Given the description of an element on the screen output the (x, y) to click on. 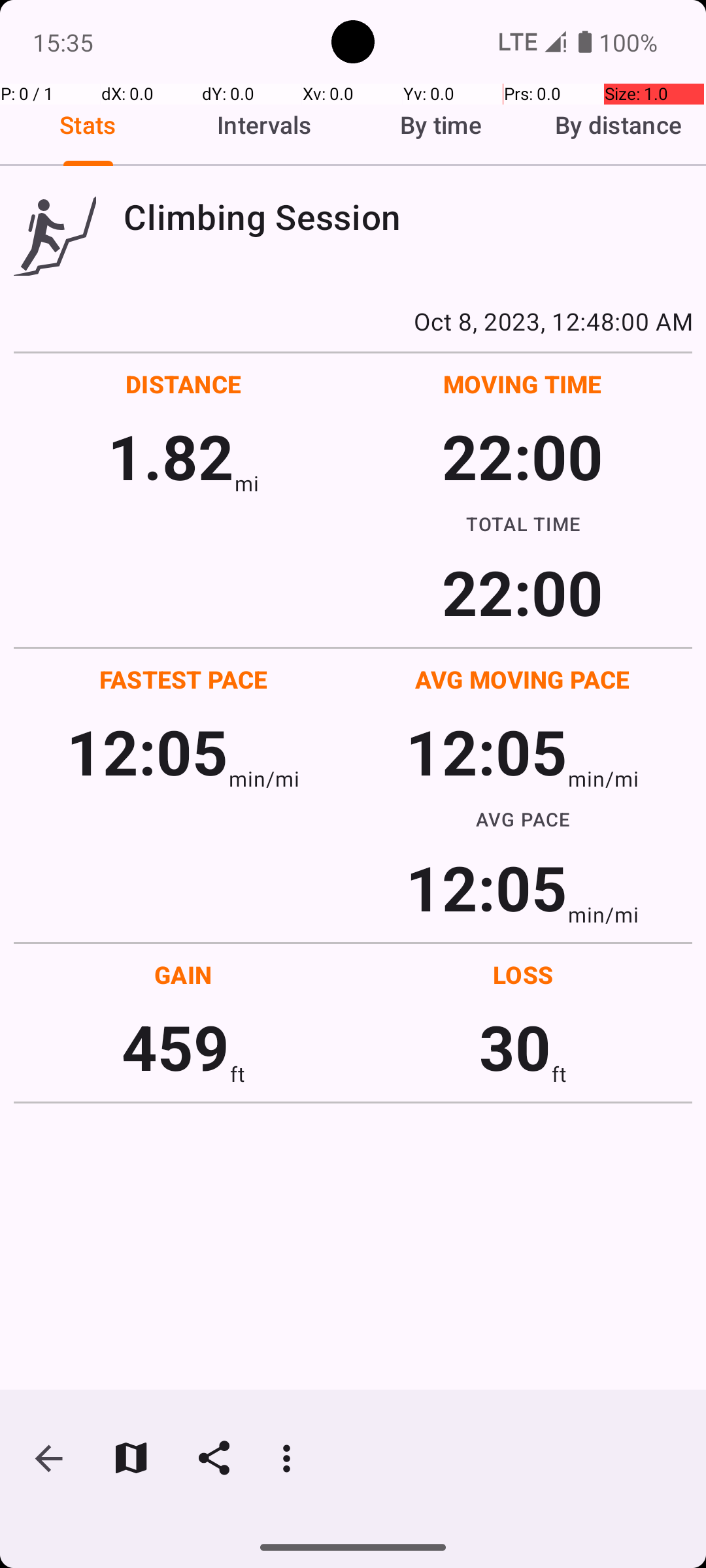
Climbing Session Element type: android.widget.TextView (407, 216)
Oct 8, 2023, 12:48:00 AM Element type: android.widget.TextView (352, 320)
1.82 Element type: android.widget.TextView (170, 455)
22:00 Element type: android.widget.TextView (522, 455)
12:05 Element type: android.widget.TextView (147, 750)
459 Element type: android.widget.TextView (175, 1045)
